Given the description of an element on the screen output the (x, y) to click on. 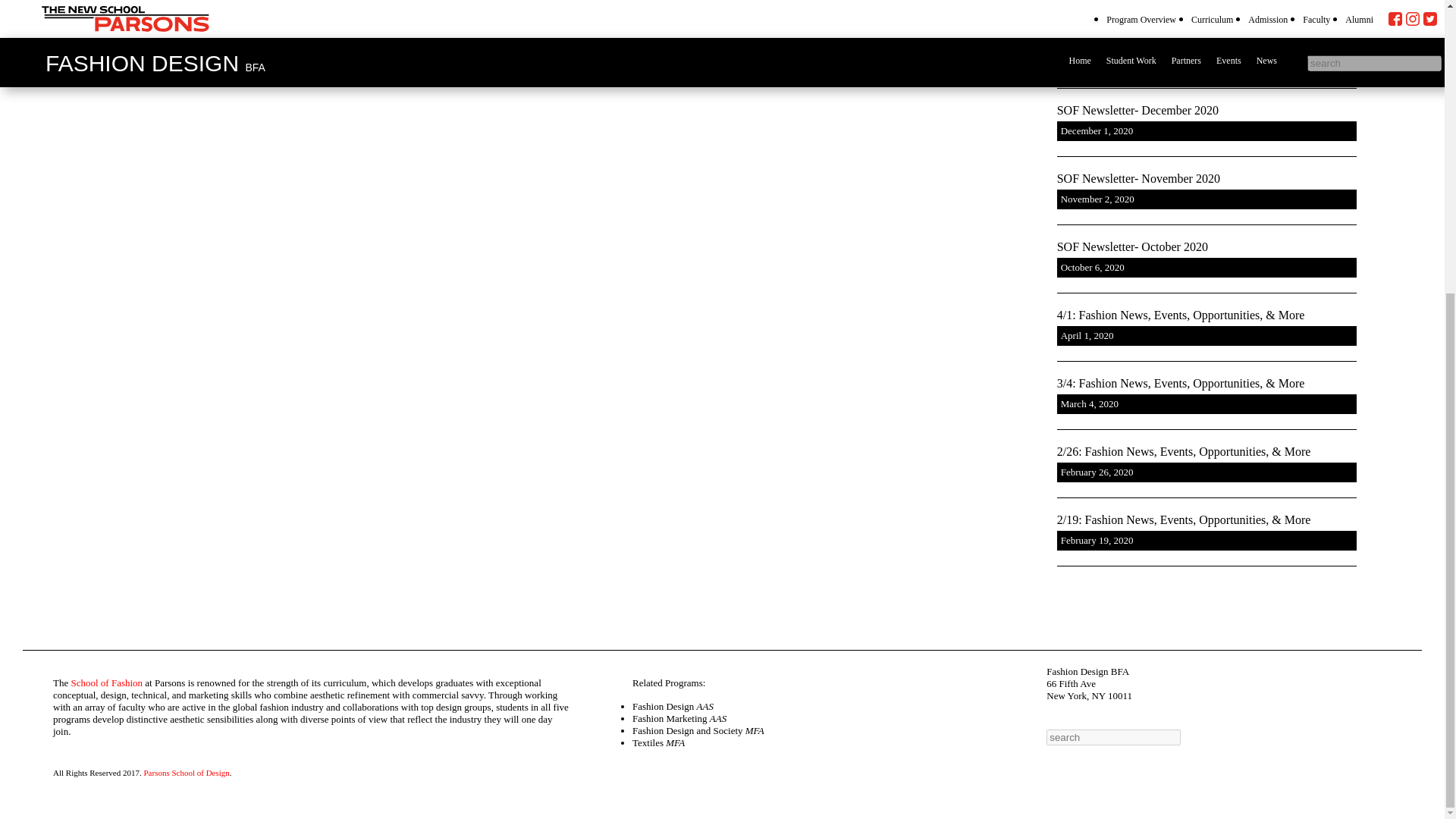
Fashion Design AAS (672, 706)
SOF Newsletter- October 2020 (1206, 246)
SOF Newsletter- November 2020 (1206, 178)
SOF Newsletter- December 2020 (1206, 110)
School of Fashion (105, 682)
SOF Newsletter- February 2021 (1206, 42)
NEXT (1273, 46)
PREVIOUS (101, 46)
Parsons School of Design (185, 763)
